Given the description of an element on the screen output the (x, y) to click on. 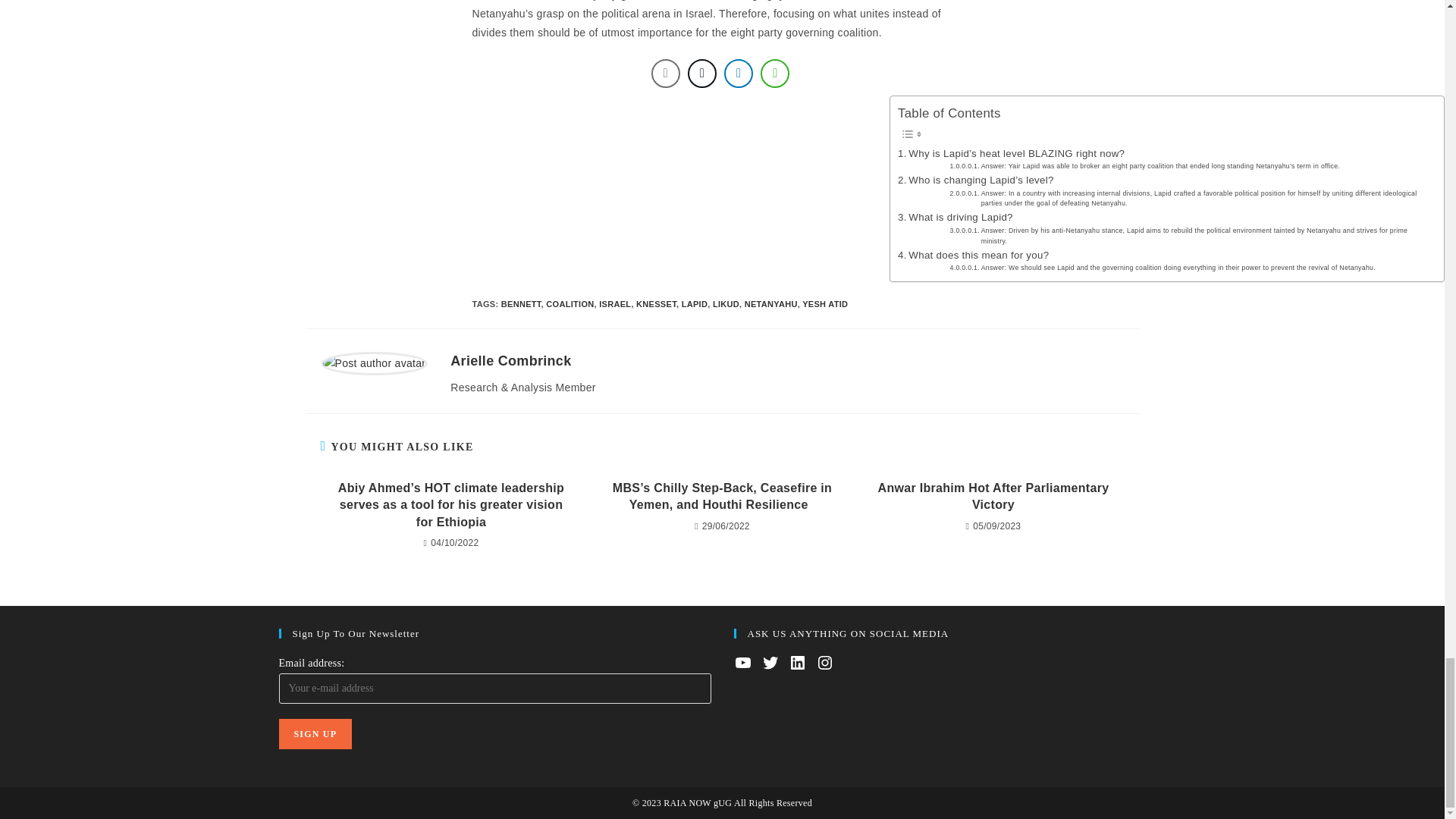
What does this mean for you? (973, 254)
Sign up (315, 734)
Visit author page (374, 362)
What is driving Lapid? (955, 217)
Visit author page (509, 360)
